Given the description of an element on the screen output the (x, y) to click on. 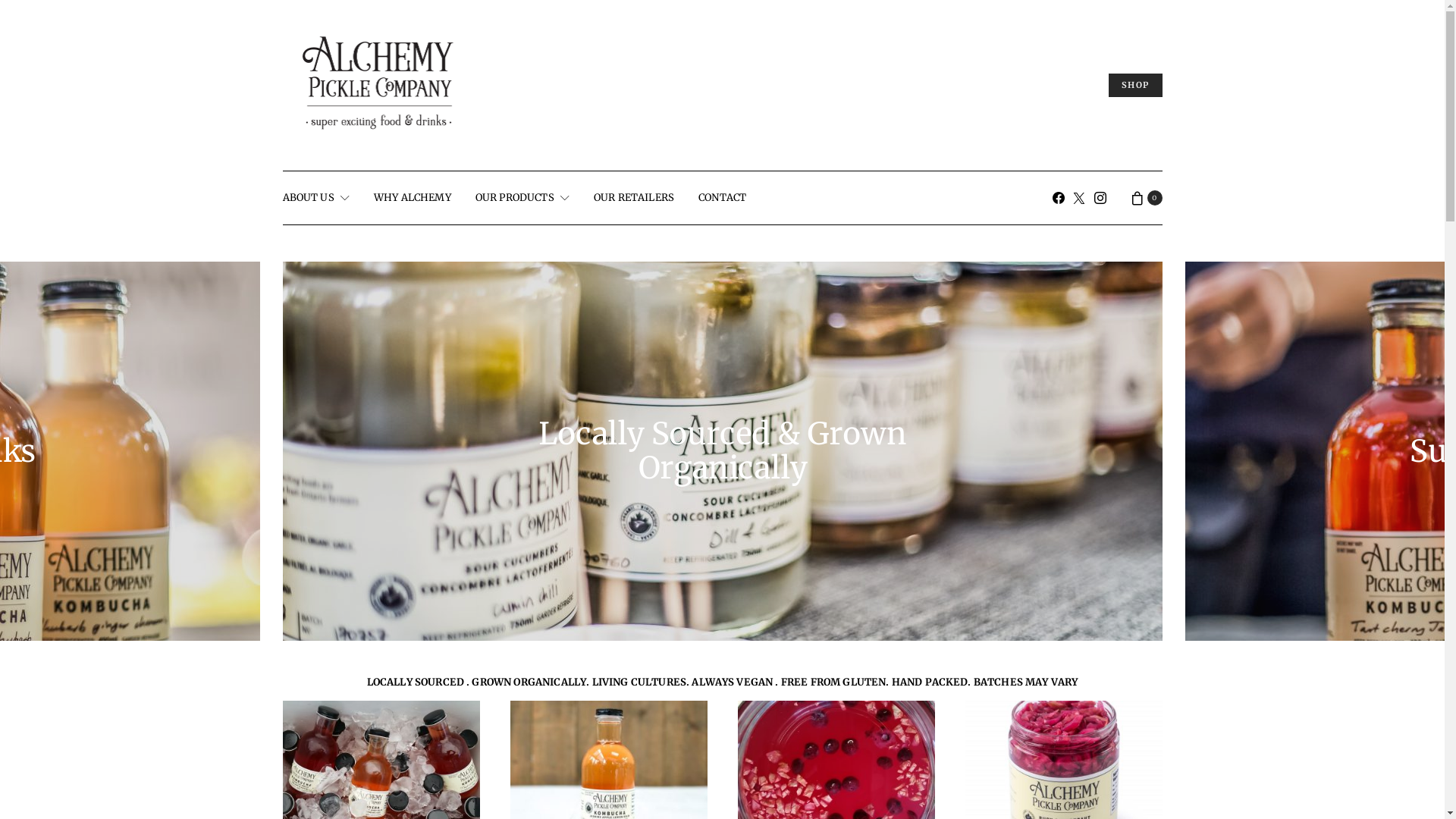
CONTACT Element type: text (722, 197)
WHY ALCHEMY Element type: text (412, 197)
Locally Sourced & Grown Organically Element type: text (722, 450)
0 Element type: text (1145, 197)
OUR RETAILERS Element type: text (633, 197)
ABOUT US Element type: text (315, 197)
SHOP Element type: text (1135, 85)
OUR PRODUCTS Element type: text (522, 197)
